Given the description of an element on the screen output the (x, y) to click on. 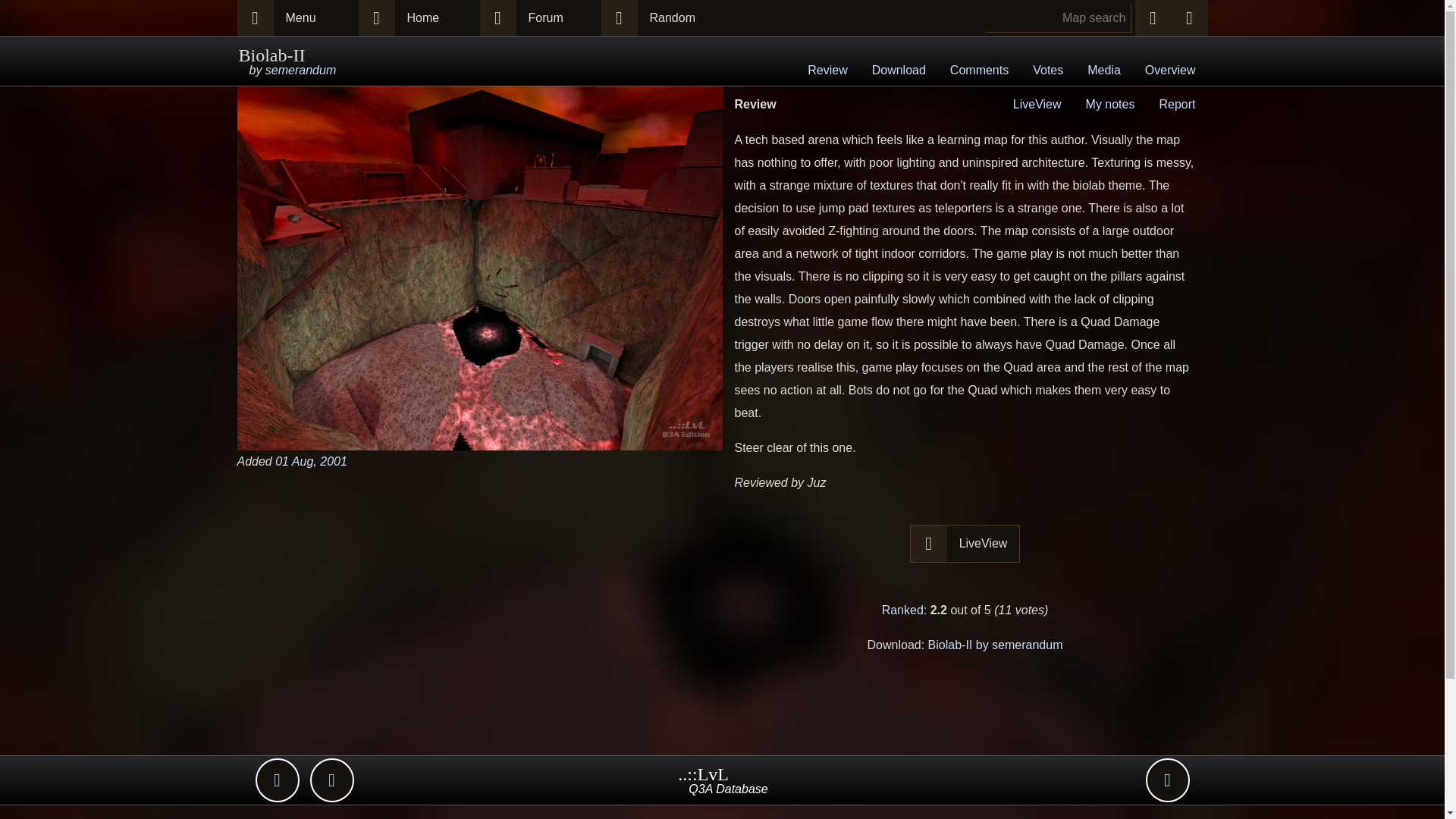
Download (898, 70)
LiveView (1037, 103)
View this map in your browser (1037, 103)
Menu (315, 18)
Overview (1170, 70)
Ranked (902, 609)
Home (436, 18)
My notes (1110, 103)
Media (1103, 70)
Biolab-II by semerandum (995, 644)
LiveView (983, 543)
semerandum (300, 69)
Login or register (1188, 18)
Forum (557, 18)
